Given the description of an element on the screen output the (x, y) to click on. 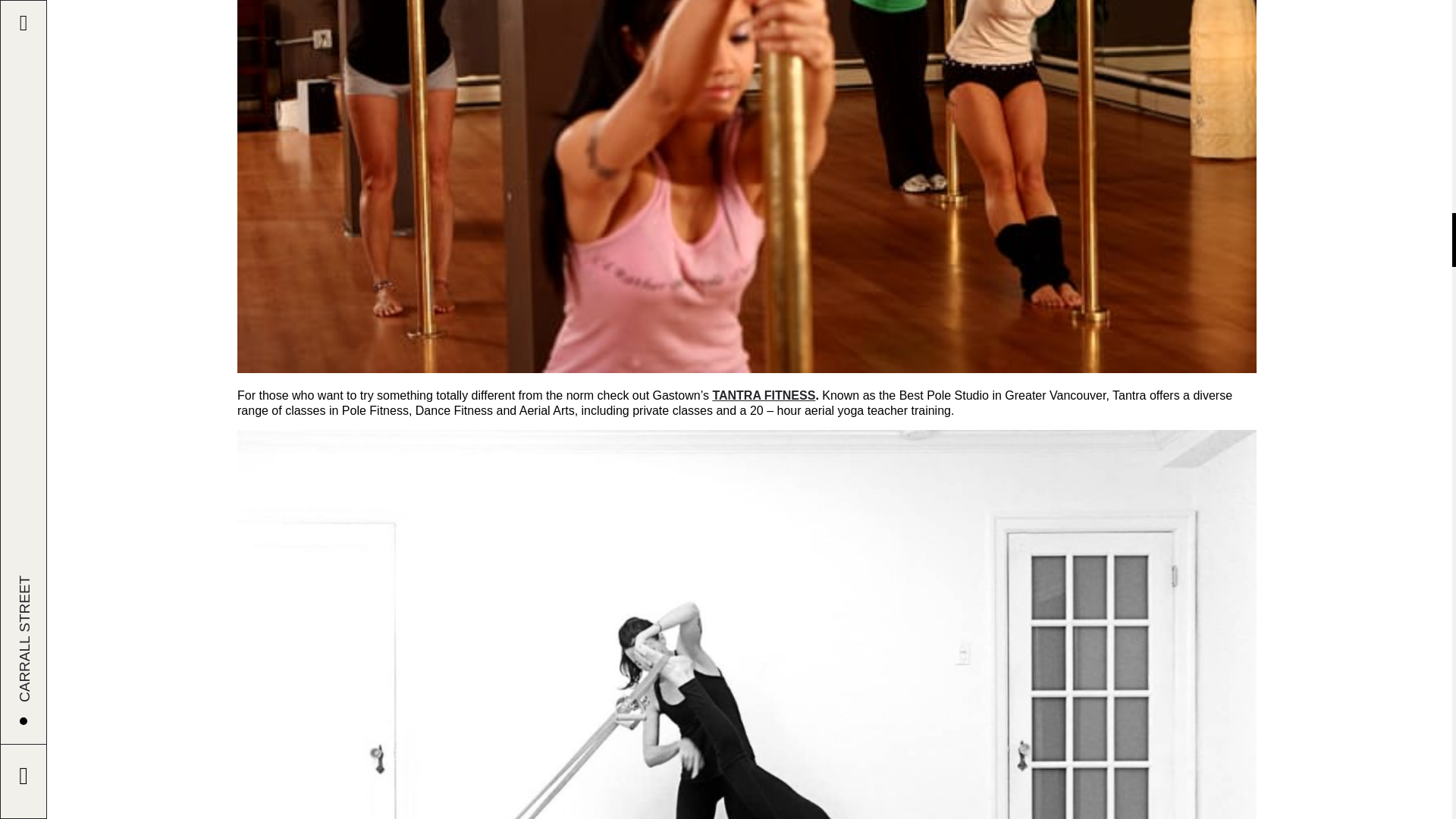
TANTRA FITNESS (763, 395)
